Given the description of an element on the screen output the (x, y) to click on. 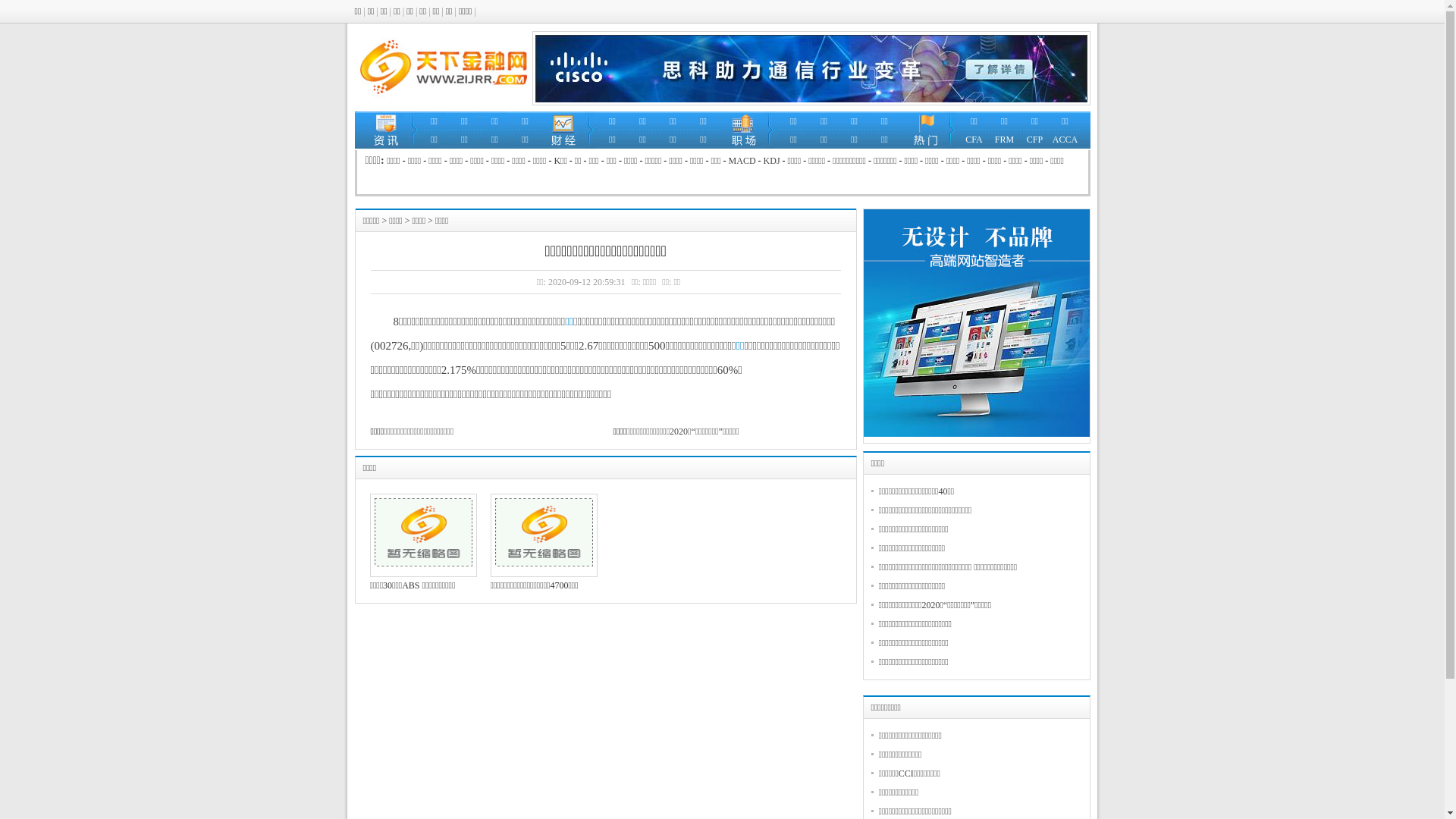
CFP Element type: text (1034, 139)
KDJ Element type: text (771, 160)
CFA Element type: text (973, 139)
FRM Element type: text (1003, 139)
ACCA Element type: text (1064, 139)
MACD Element type: text (742, 160)
